Given the description of an element on the screen output the (x, y) to click on. 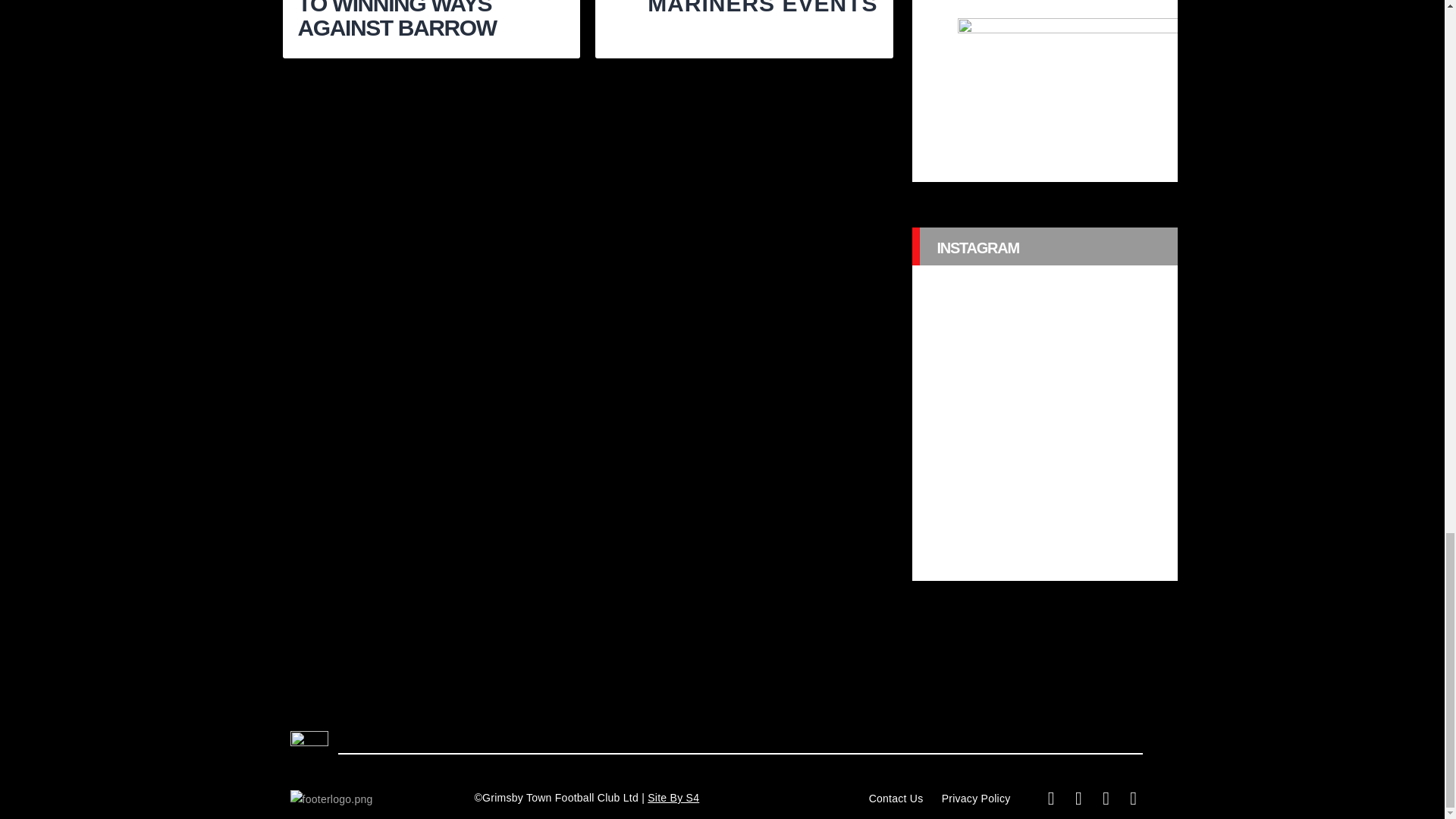
footerlogo.png (330, 799)
